Given the description of an element on the screen output the (x, y) to click on. 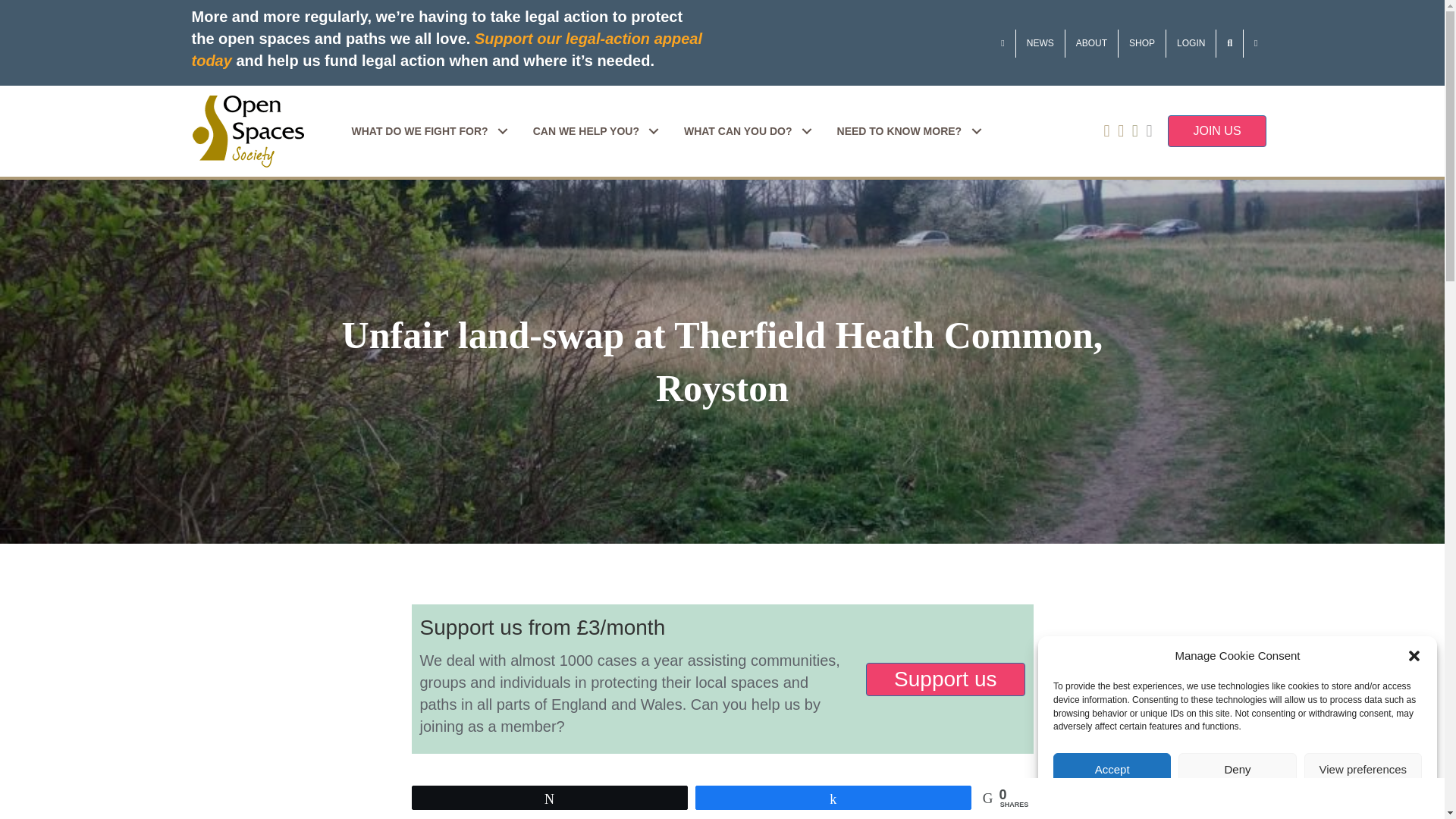
Search (1229, 43)
ABOUT (1091, 43)
NEWS (1040, 43)
LOGIN (1190, 43)
SHOP (1142, 43)
Open Spaces Society Logo (247, 131)
Support our legal-action appeal today (445, 49)
